Given the description of an element on the screen output the (x, y) to click on. 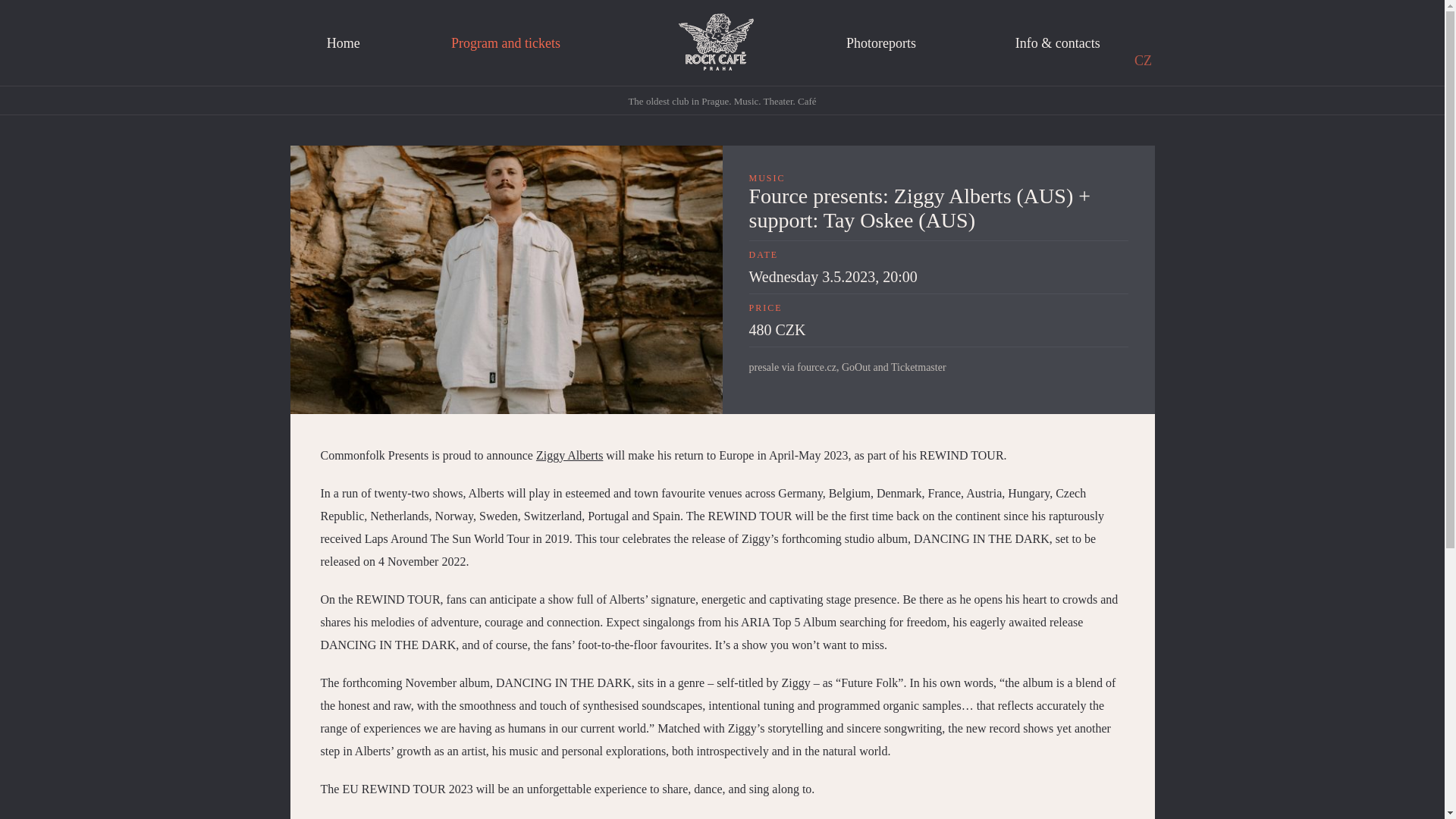
Program and tickets (505, 43)
Ziggy Alberts (568, 454)
CZ (1142, 60)
Home (342, 43)
Photoreports (881, 43)
